Given the description of an element on the screen output the (x, y) to click on. 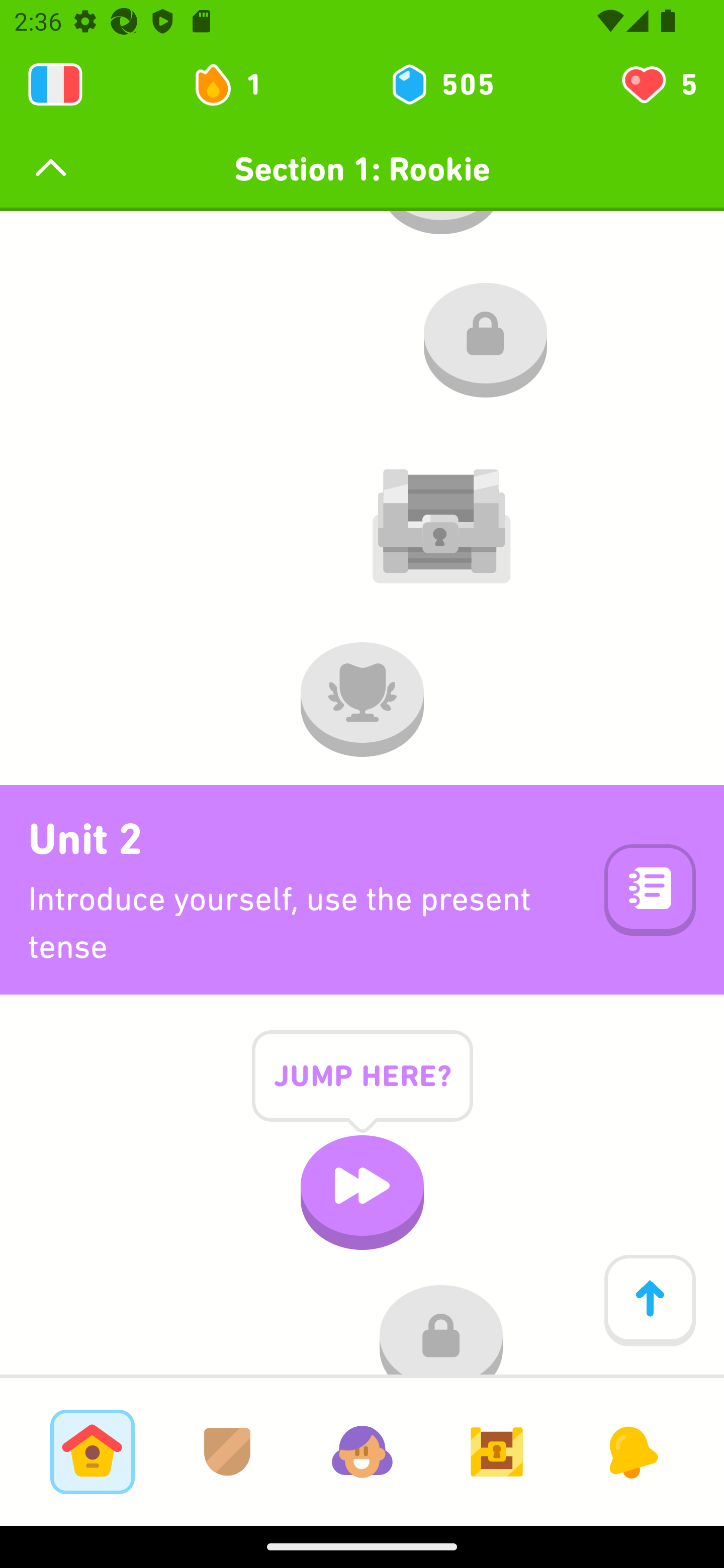
Learning 2131888976 (55, 84)
1 day streak 1 (236, 84)
505 (441, 84)
You have 5 hearts left 5 (657, 84)
Section 1: Rookie (362, 169)
JUMP HERE? (361, 1091)
Learn Tab (91, 1451)
Leagues Tab (227, 1451)
Profile Tab (361, 1451)
Goals Tab (496, 1451)
News Tab (631, 1451)
